Given the description of an element on the screen output the (x, y) to click on. 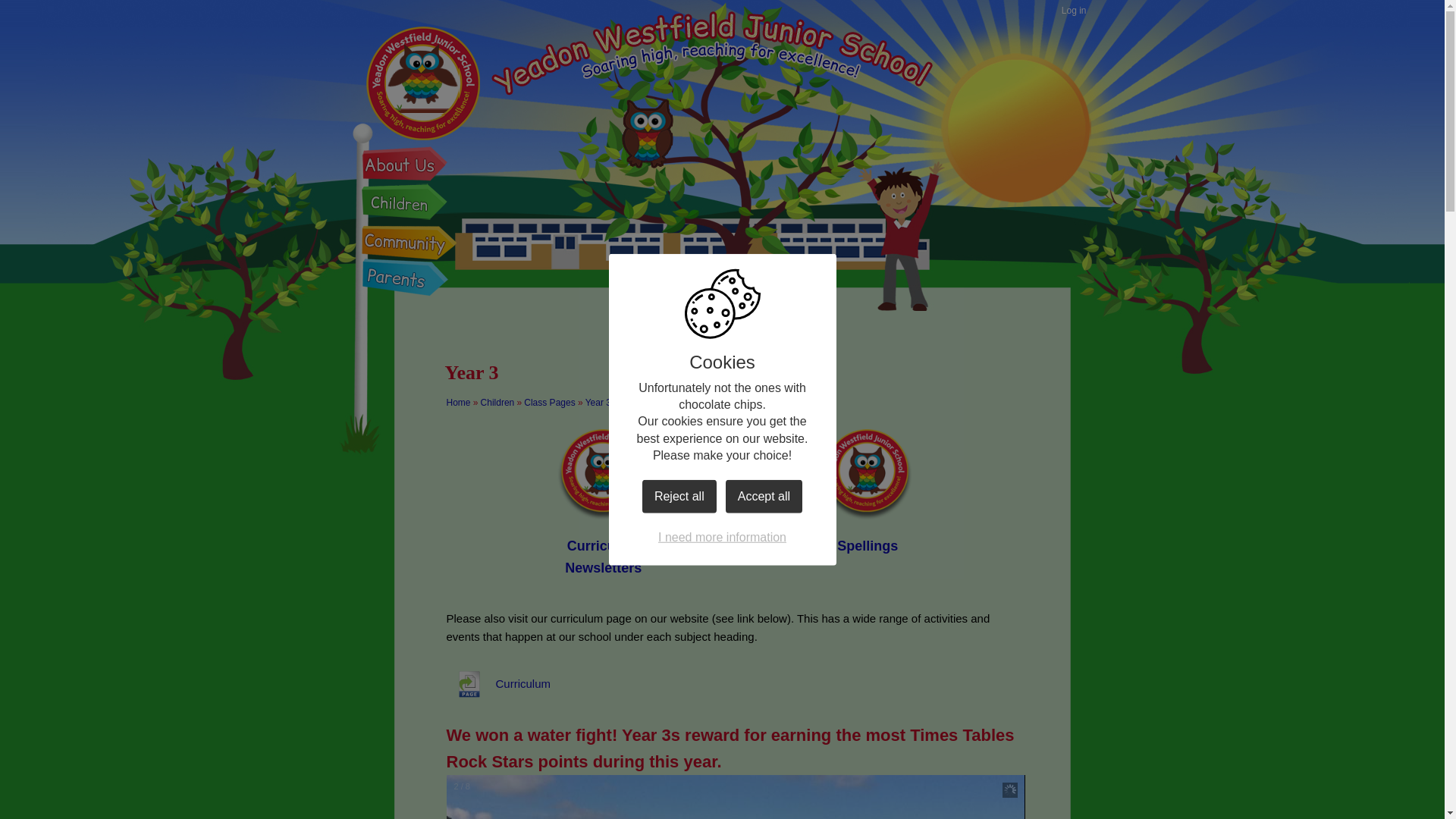
Homework (735, 487)
Year 3 (598, 402)
Spellings (867, 487)
Curriculum (497, 683)
Home Page (421, 82)
Log in (1073, 11)
Home (457, 402)
Curriculum Newsletters (604, 498)
Class Pages (549, 402)
About Us (407, 167)
Children (497, 402)
Home Page (421, 82)
